Given the description of an element on the screen output the (x, y) to click on. 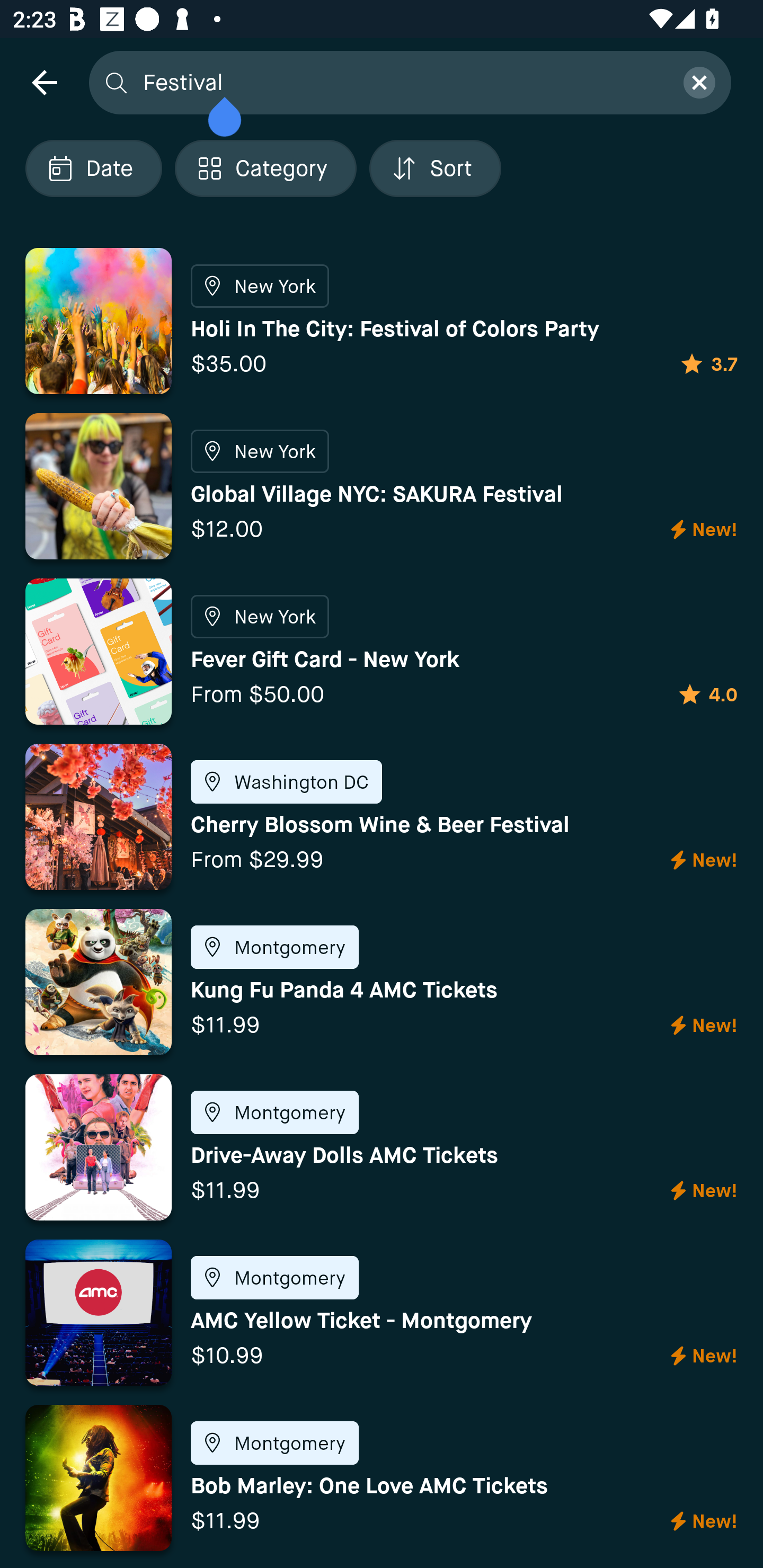
navigation icon (44, 81)
Festival (402, 81)
Localized description Date (93, 168)
Localized description Category (265, 168)
Localized description Sort (435, 168)
